Given the description of an element on the screen output the (x, y) to click on. 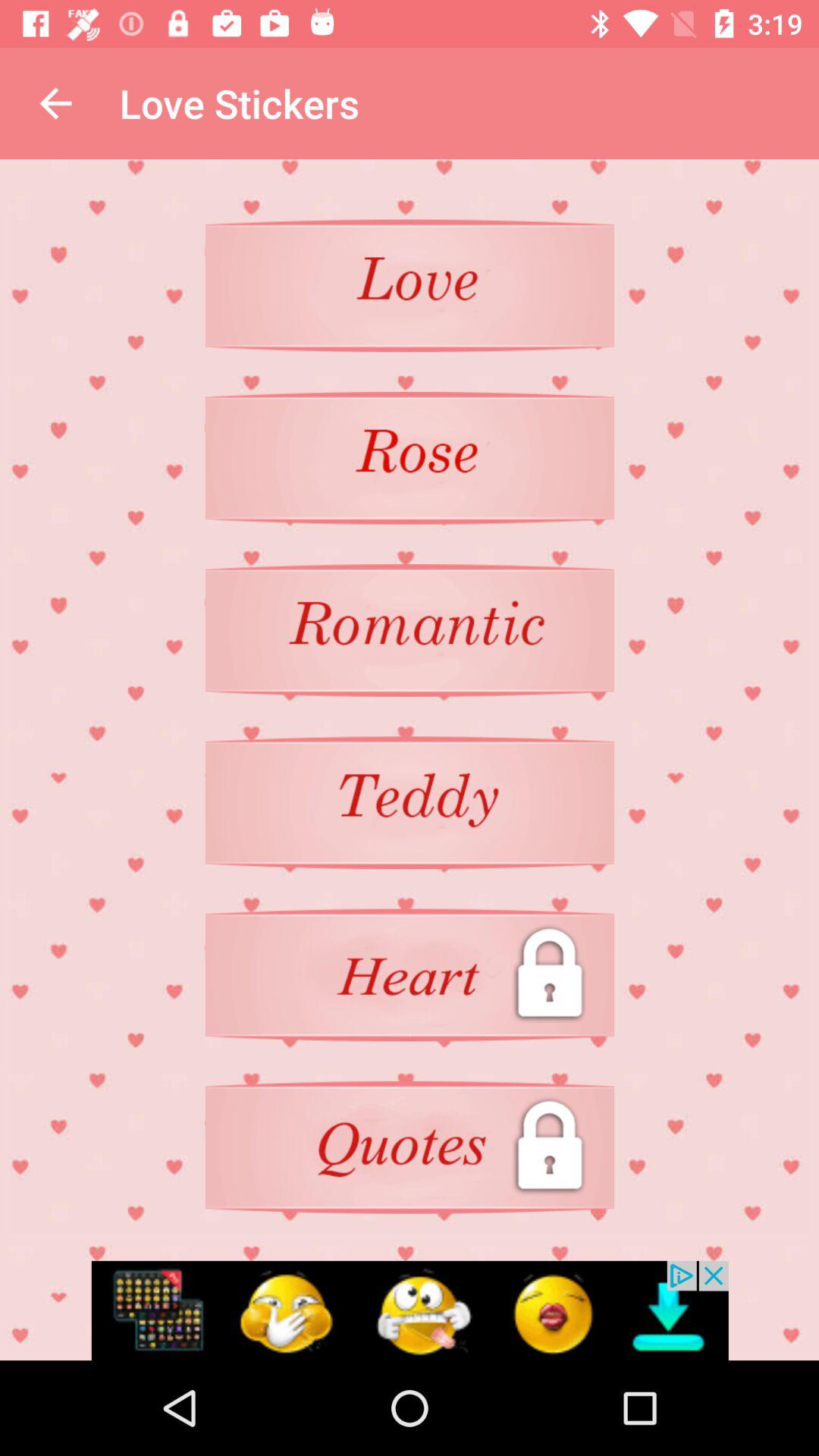
heart sticker locked (409, 974)
